Given the description of an element on the screen output the (x, y) to click on. 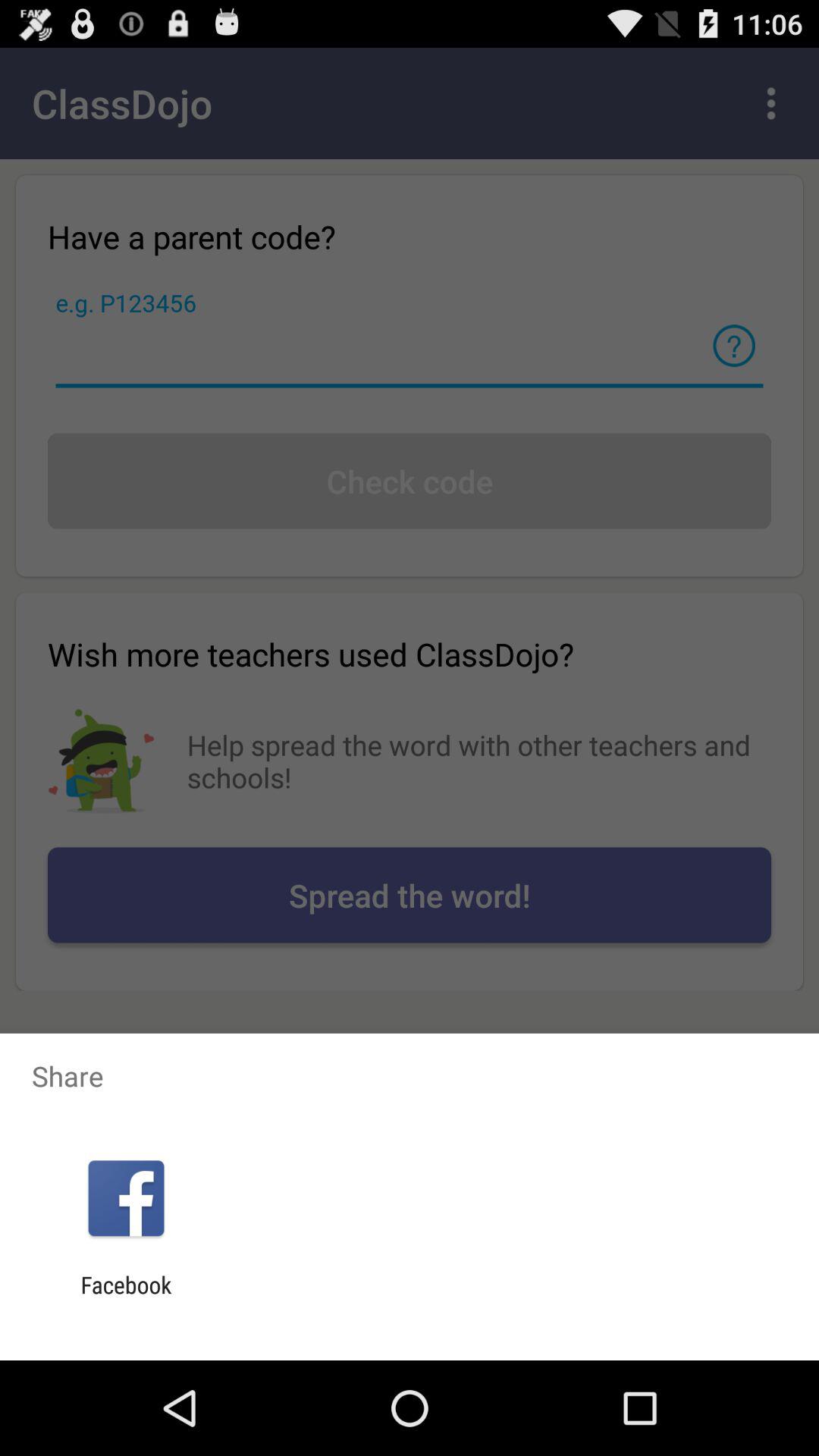
jump to facebook (125, 1298)
